Given the description of an element on the screen output the (x, y) to click on. 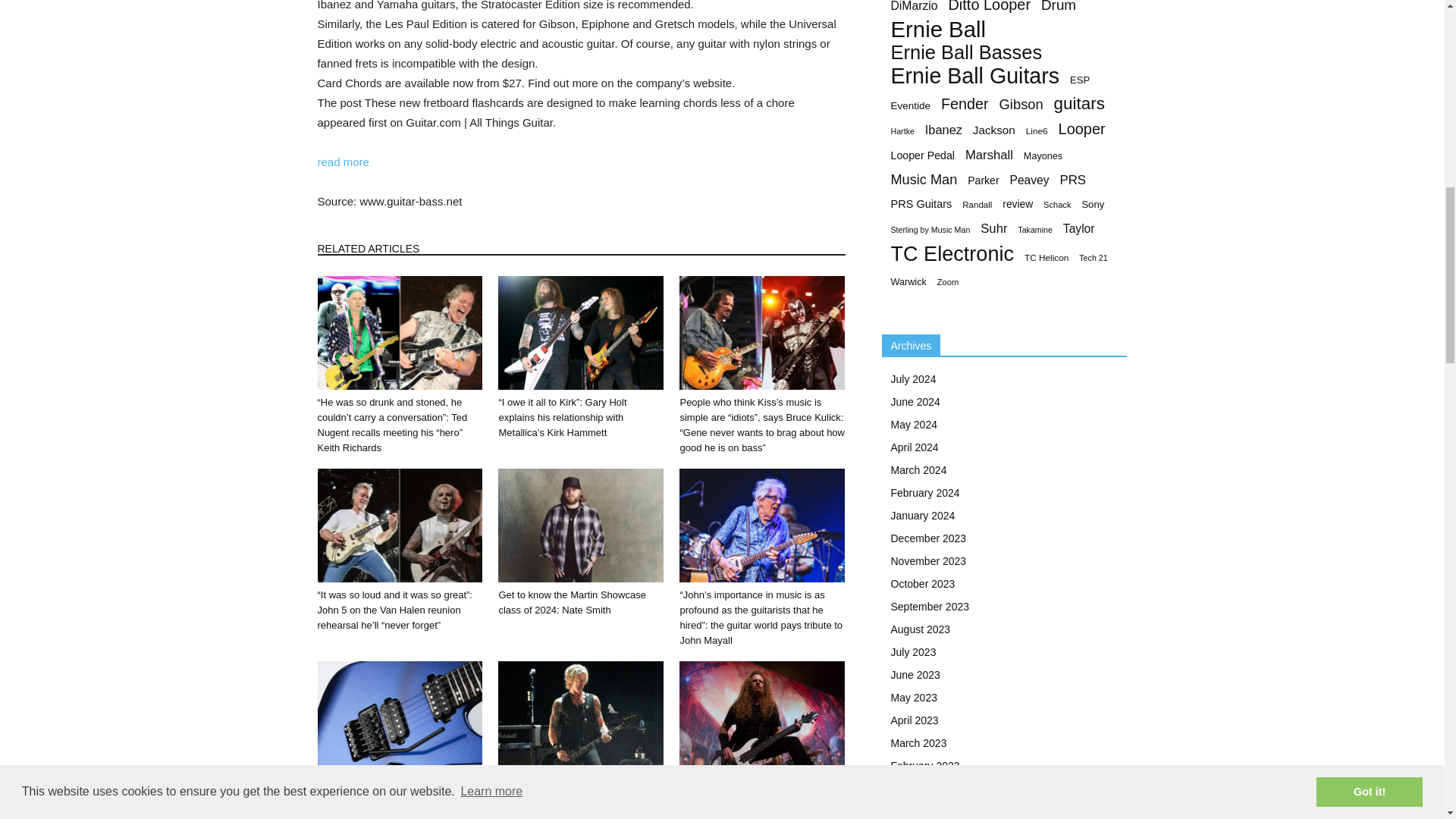
Get to know the Martin Showcase class of 2024: Nate Smith (580, 525)
Get to know the Martin Showcase class of 2024: Nate Smith (571, 601)
read more (342, 161)
